Given the description of an element on the screen output the (x, y) to click on. 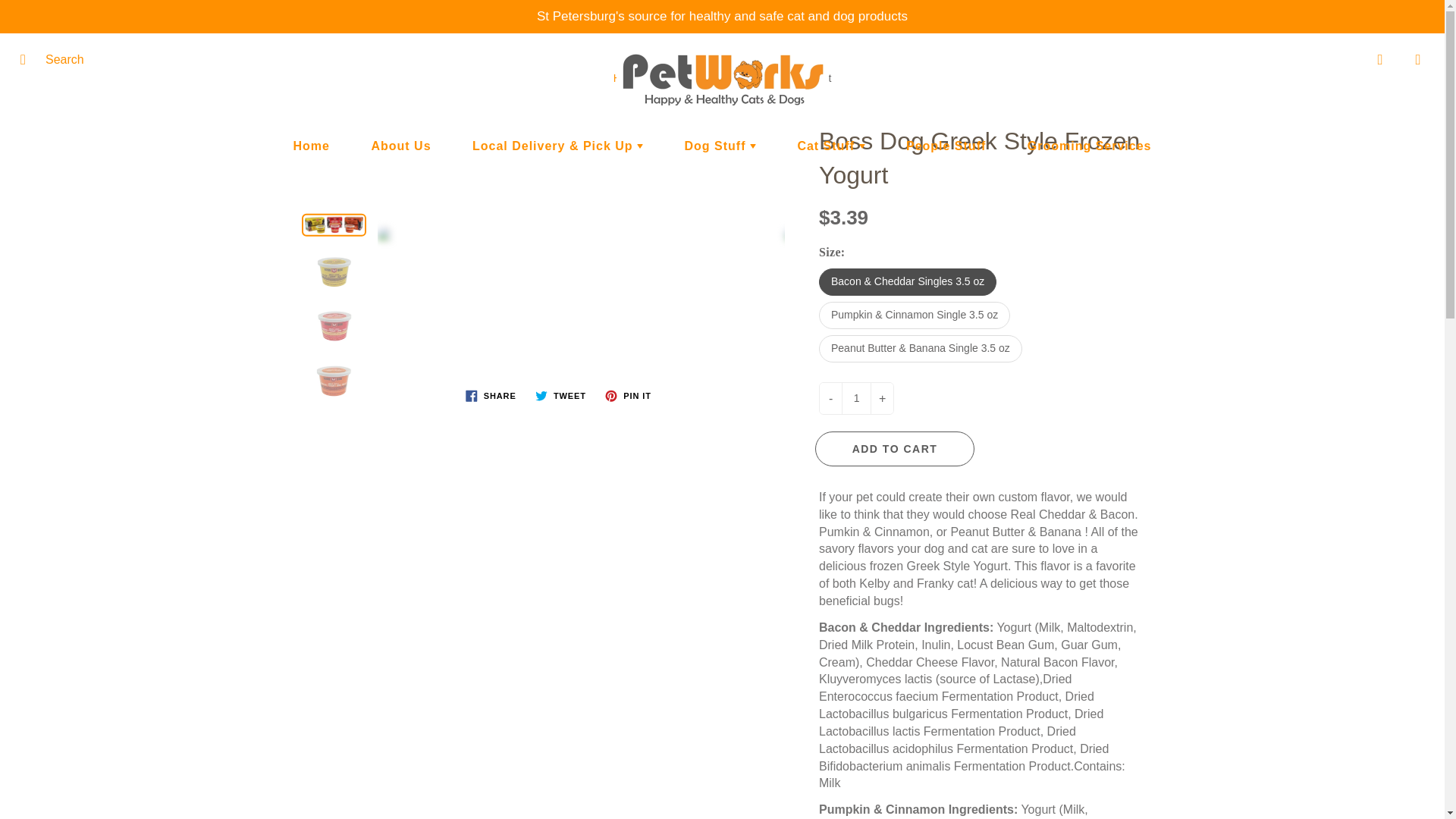
Dog Stuff (719, 146)
About Us (400, 146)
Boss Dog Greek Style Frozen Yogurt (333, 323)
Cat Stuff (830, 146)
Boss Dog Greek Style Frozen Yogurt (333, 269)
Home (627, 78)
Grooming Services (1089, 146)
You have 0 items in your cart (1417, 59)
Boss Dog Greek Style Frozen Yogurt (333, 378)
Boss Dog Greek Style Frozen Yogurt (333, 225)
Home (312, 146)
Tweet on Twitter (560, 395)
Share on Facebook (491, 395)
1 (855, 398)
Boss Dog Greek Style Frozen Yogurt (569, 234)
